Given the description of an element on the screen output the (x, y) to click on. 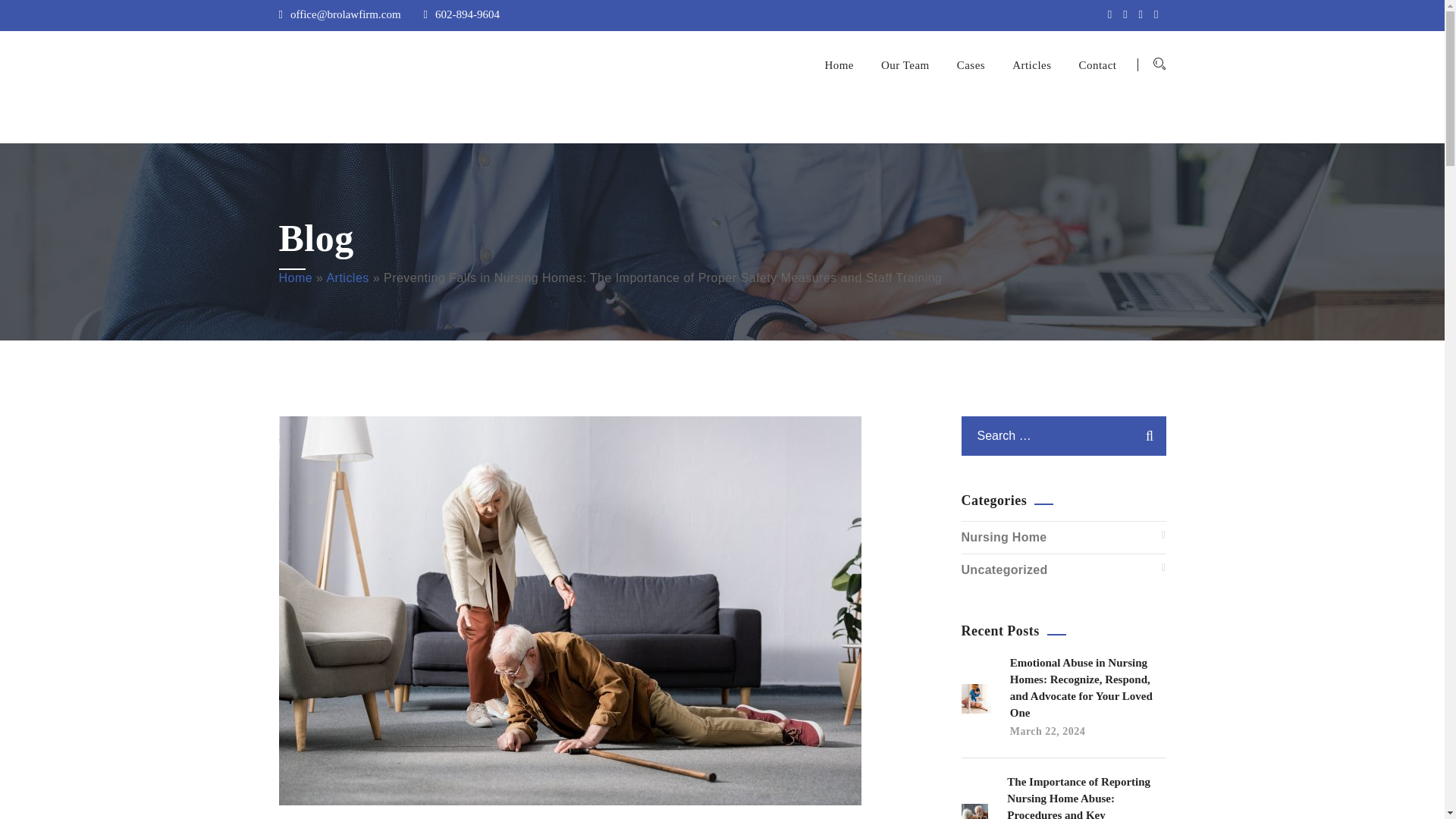
602-894-9604 (461, 14)
Cases (970, 64)
Our Team (905, 64)
Pinterest (1144, 14)
Home (838, 64)
Facebook (1128, 14)
Contact (1097, 64)
Our Team (905, 64)
Contact (1097, 64)
